Given the description of an element on the screen output the (x, y) to click on. 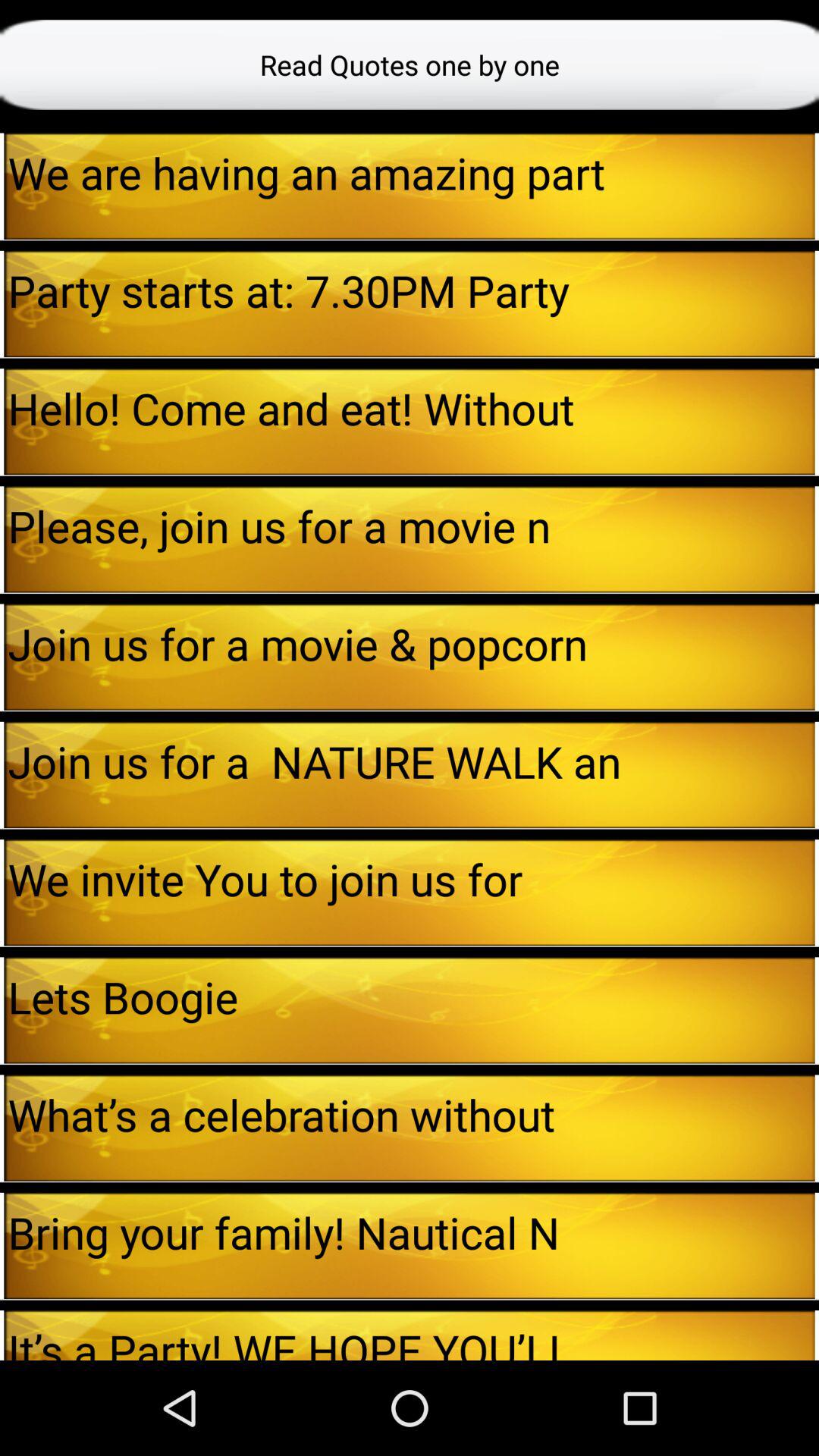
turn on icon next to we are having (1, 186)
